Given the description of an element on the screen output the (x, y) to click on. 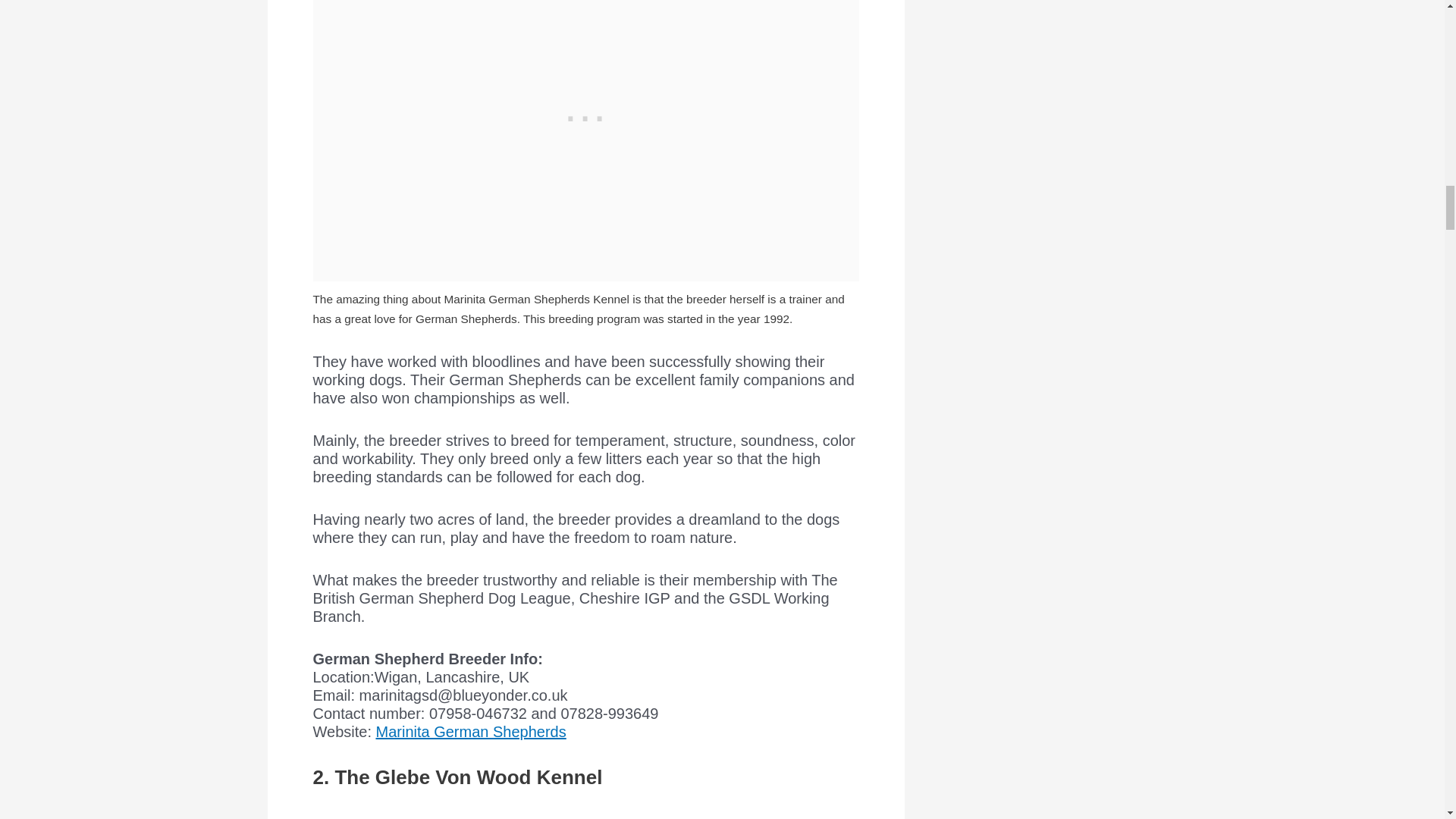
Marinita German Shepherds (470, 731)
